Given the description of an element on the screen output the (x, y) to click on. 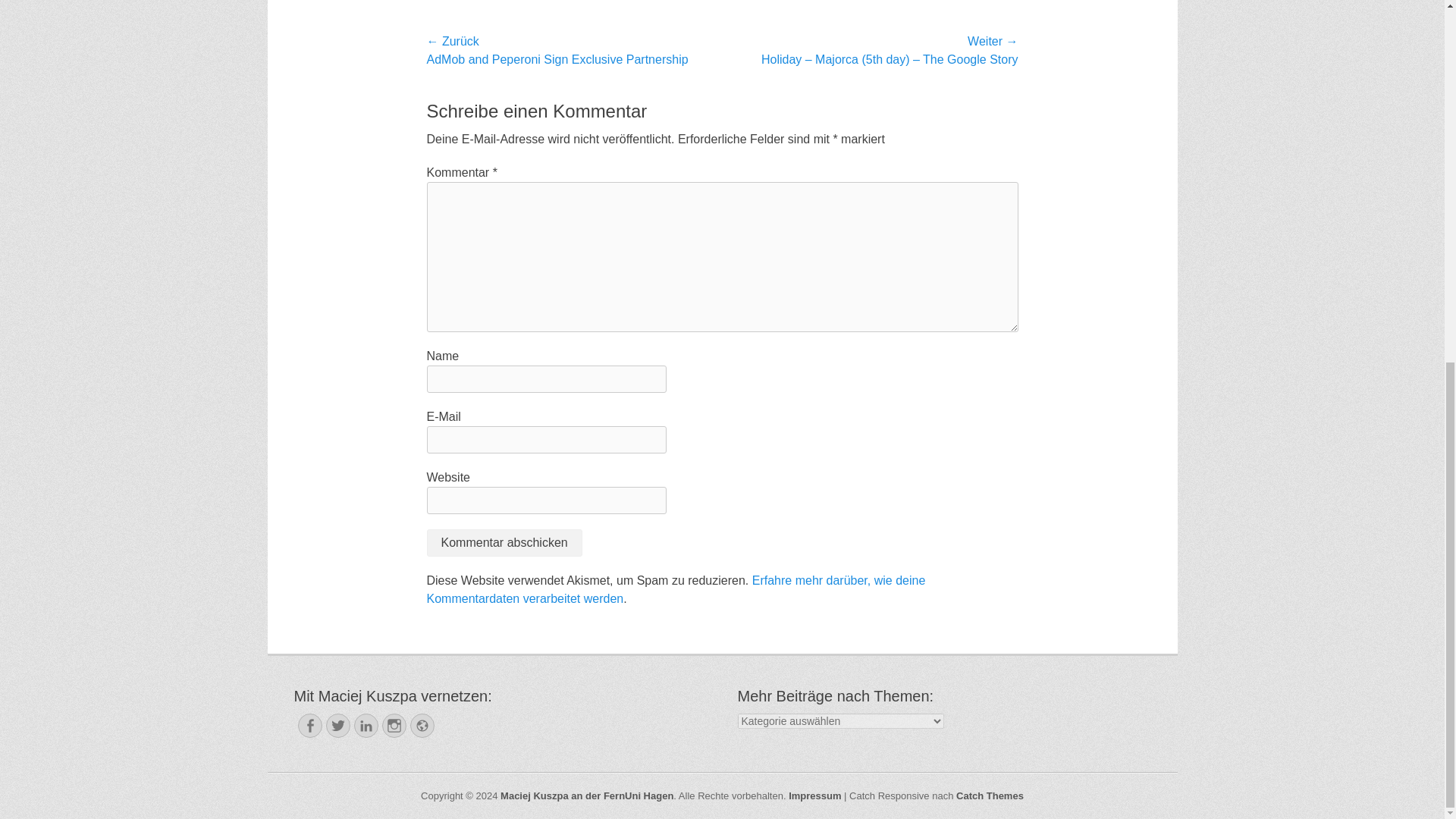
Facebook (309, 725)
Instagram (393, 725)
Kommentar abschicken (503, 542)
Twitter (338, 725)
LinkedIn (365, 725)
Website (421, 725)
